Given the description of an element on the screen output the (x, y) to click on. 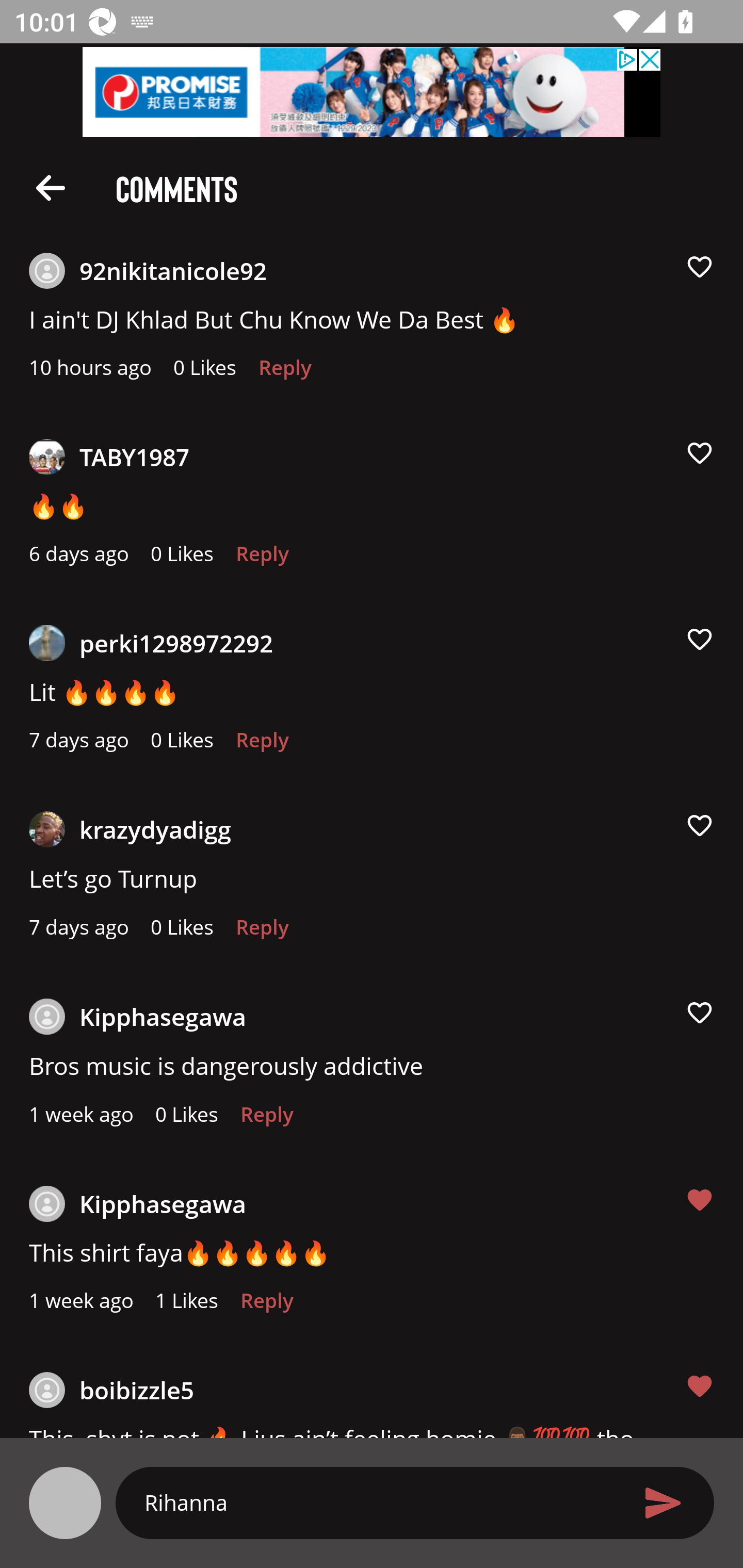
Description (50, 187)
Reply (285, 372)
Reply (261, 558)
Reply (261, 744)
Reply (261, 932)
Reply (266, 1119)
Reply (266, 1305)
Rihanna (378, 1502)
